Given the description of an element on the screen output the (x, y) to click on. 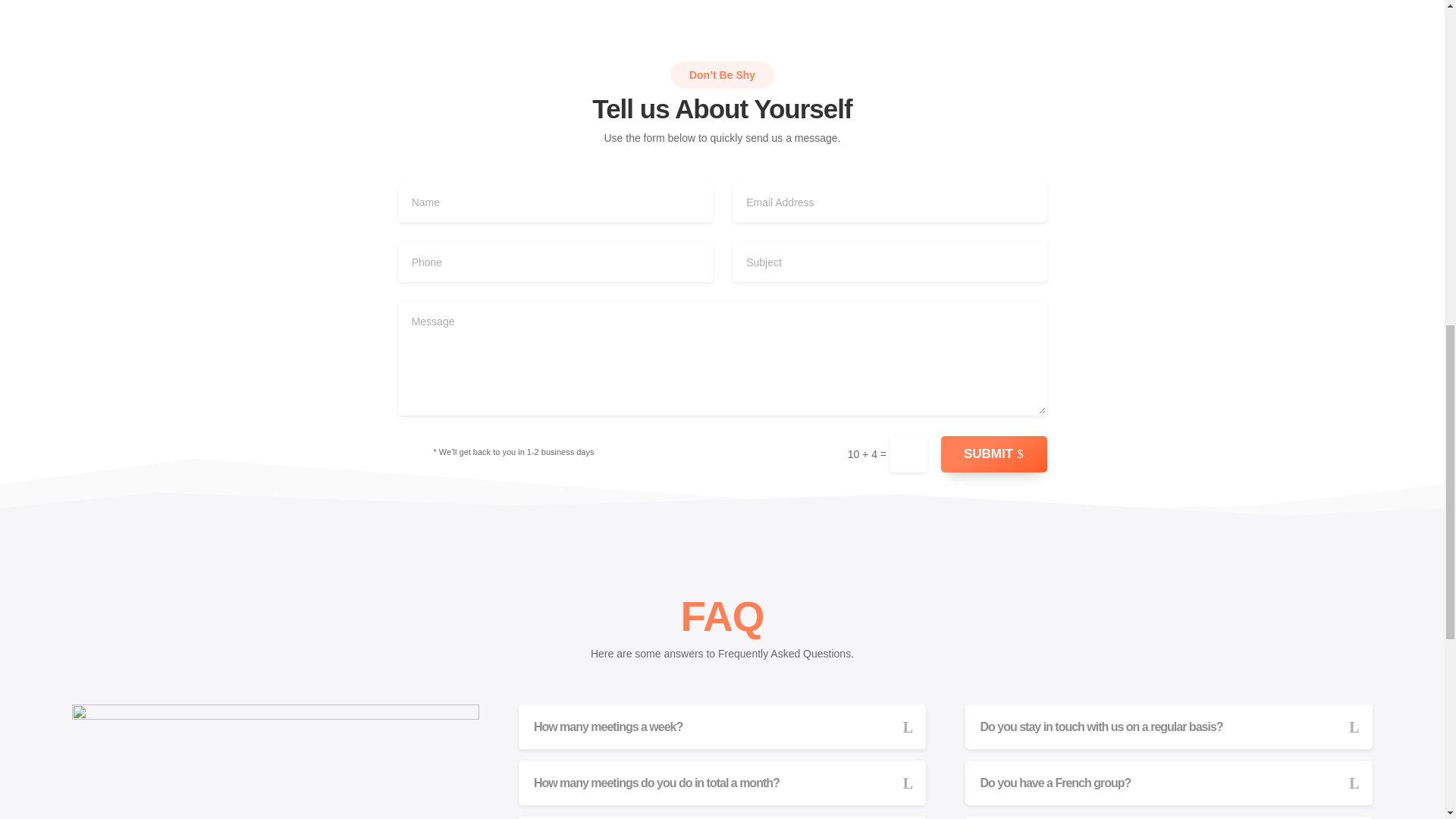
Maximum length: 75 characters. (889, 261)
SUBMIT (993, 453)
pexels-christina-morillo-1181354 (275, 761)
